Given the description of an element on the screen output the (x, y) to click on. 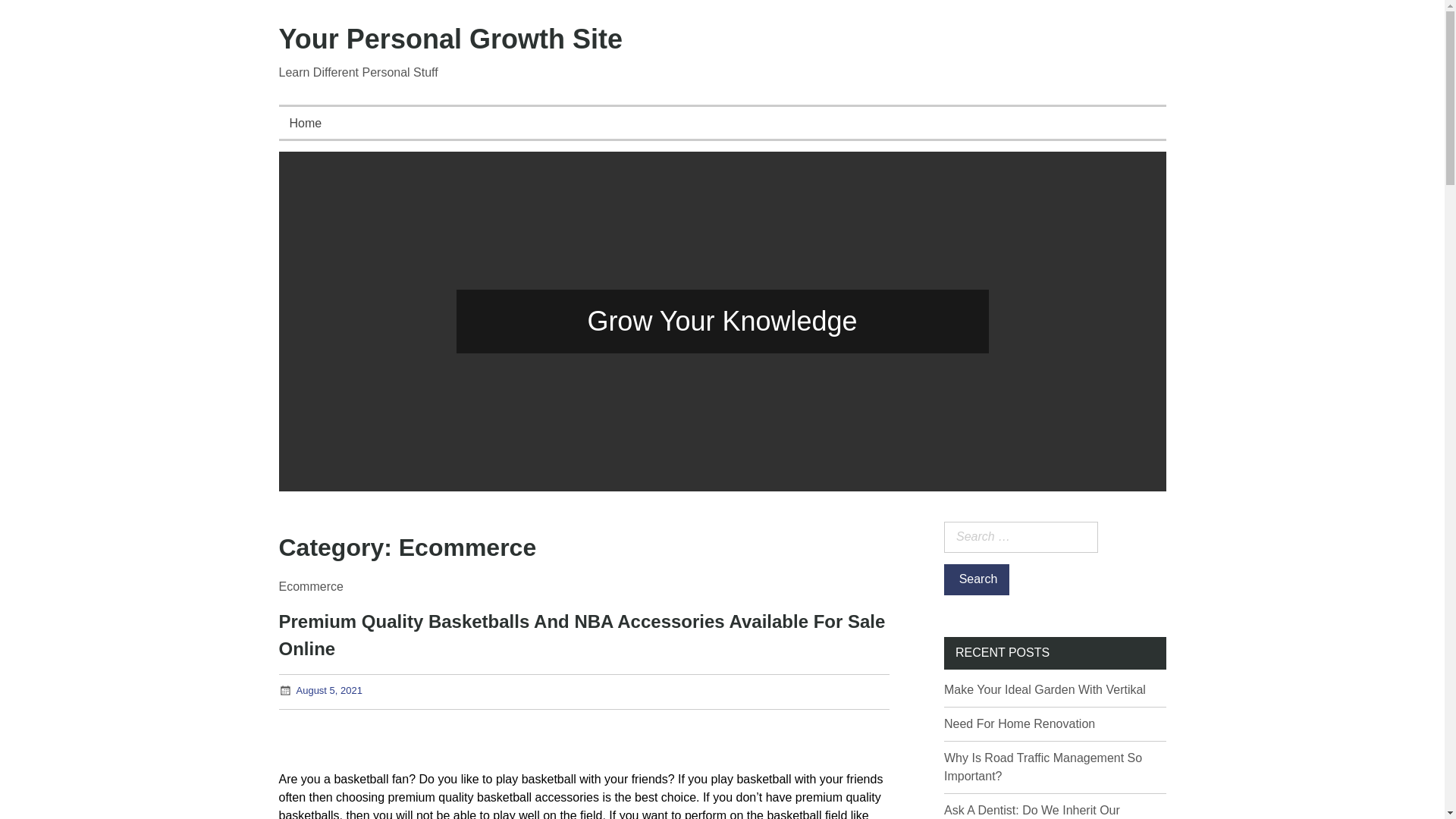
Your Personal Growth Site (451, 38)
Home (306, 122)
August 5, 2021 (328, 690)
Search (976, 579)
Need For Home Renovation (1018, 723)
Search (976, 579)
Search (976, 579)
Make Your Ideal Garden With Vertikal (1044, 689)
Why Is Road Traffic Management So Important? (1042, 766)
